Given the description of an element on the screen output the (x, y) to click on. 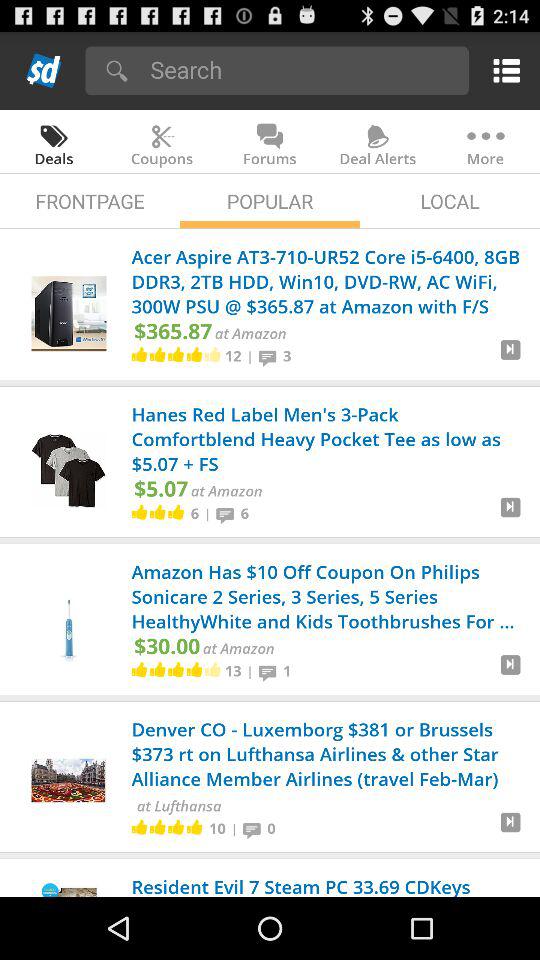
flip until the resident evil 7 item (328, 887)
